Given the description of an element on the screen output the (x, y) to click on. 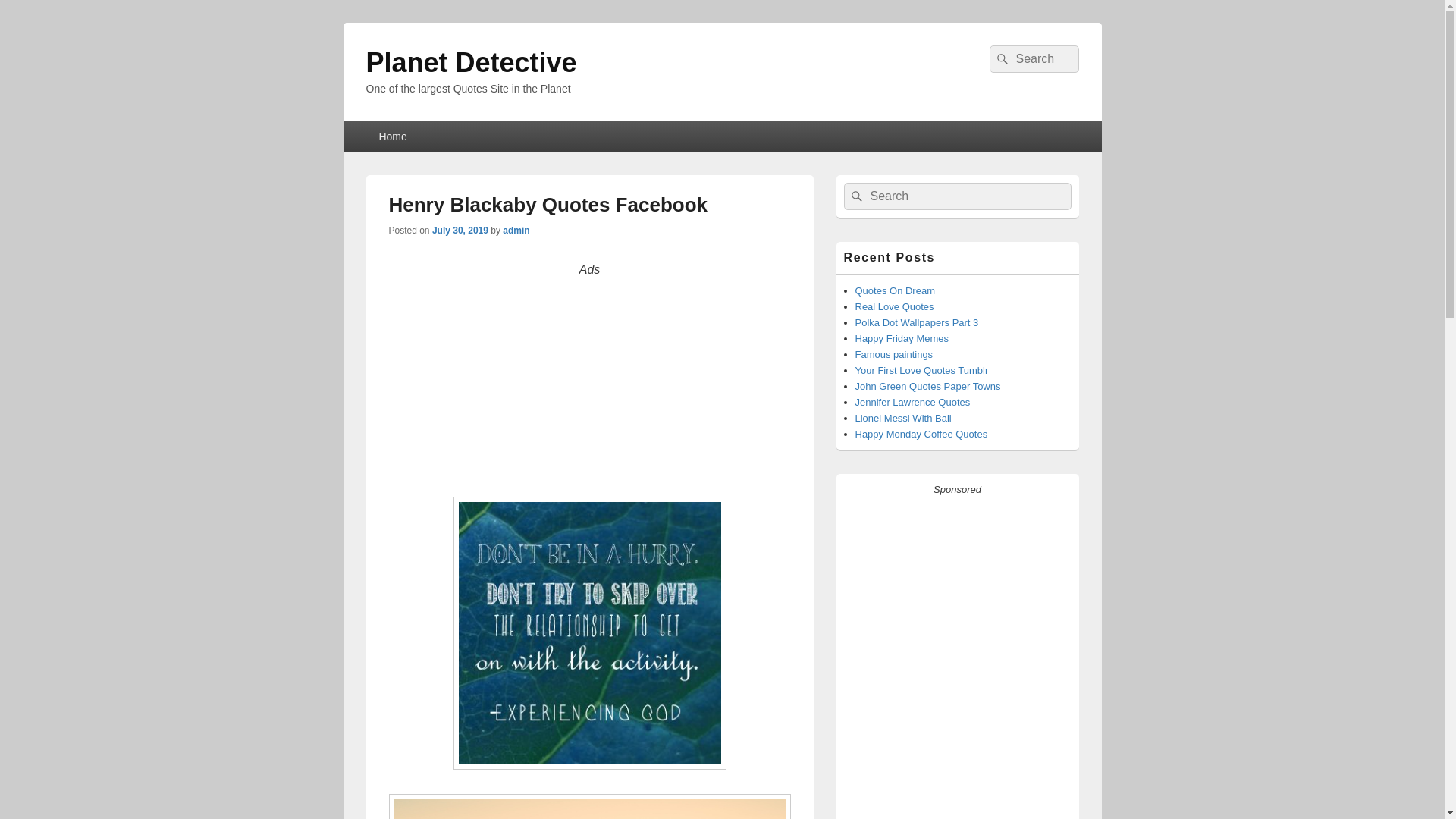
Advertisement (590, 386)
John Green Quotes Paper Towns (928, 386)
Planet Detective (470, 61)
July 30, 2019 (459, 230)
Happy Monday Coffee Quotes (922, 433)
Polka Dot Wallpapers Part 3 (917, 322)
Quotes On Dream (896, 290)
Jennifer Lawrence Quotes (913, 401)
admin (515, 230)
Search for: (1033, 58)
View all posts by admin (515, 230)
Famous paintings (894, 354)
Search for: (956, 195)
Lionel Messi With Ball (904, 418)
12:00 am (459, 230)
